Given the description of an element on the screen output the (x, y) to click on. 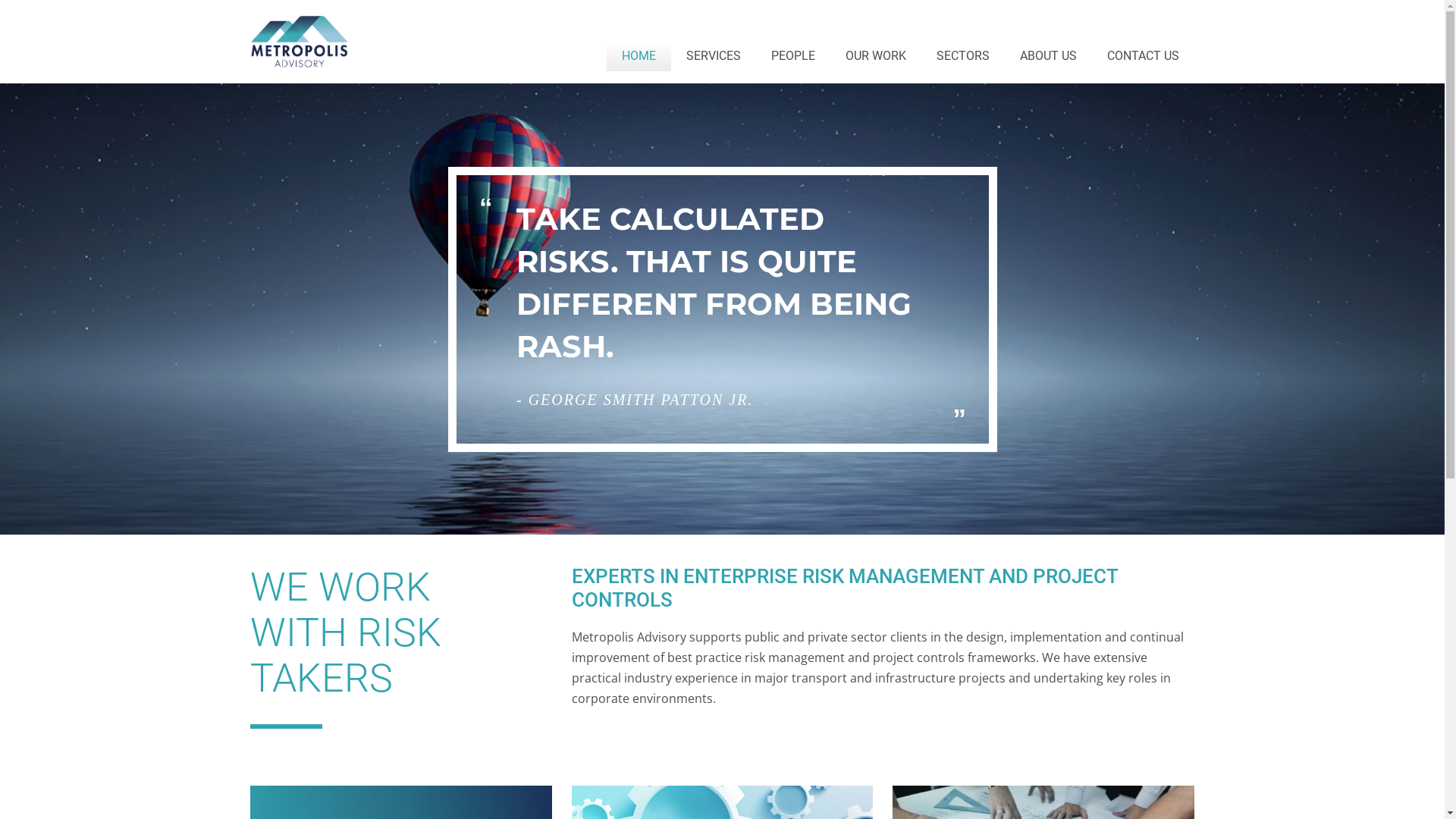
ABOUT US Element type: text (1048, 55)
CONTACT US Element type: text (1143, 55)
SECTORS Element type: text (962, 55)
HOME Element type: text (638, 55)
OUR WORK Element type: text (875, 55)
SERVICES Element type: text (713, 55)
PEOPLE Element type: text (793, 55)
